Given the description of an element on the screen output the (x, y) to click on. 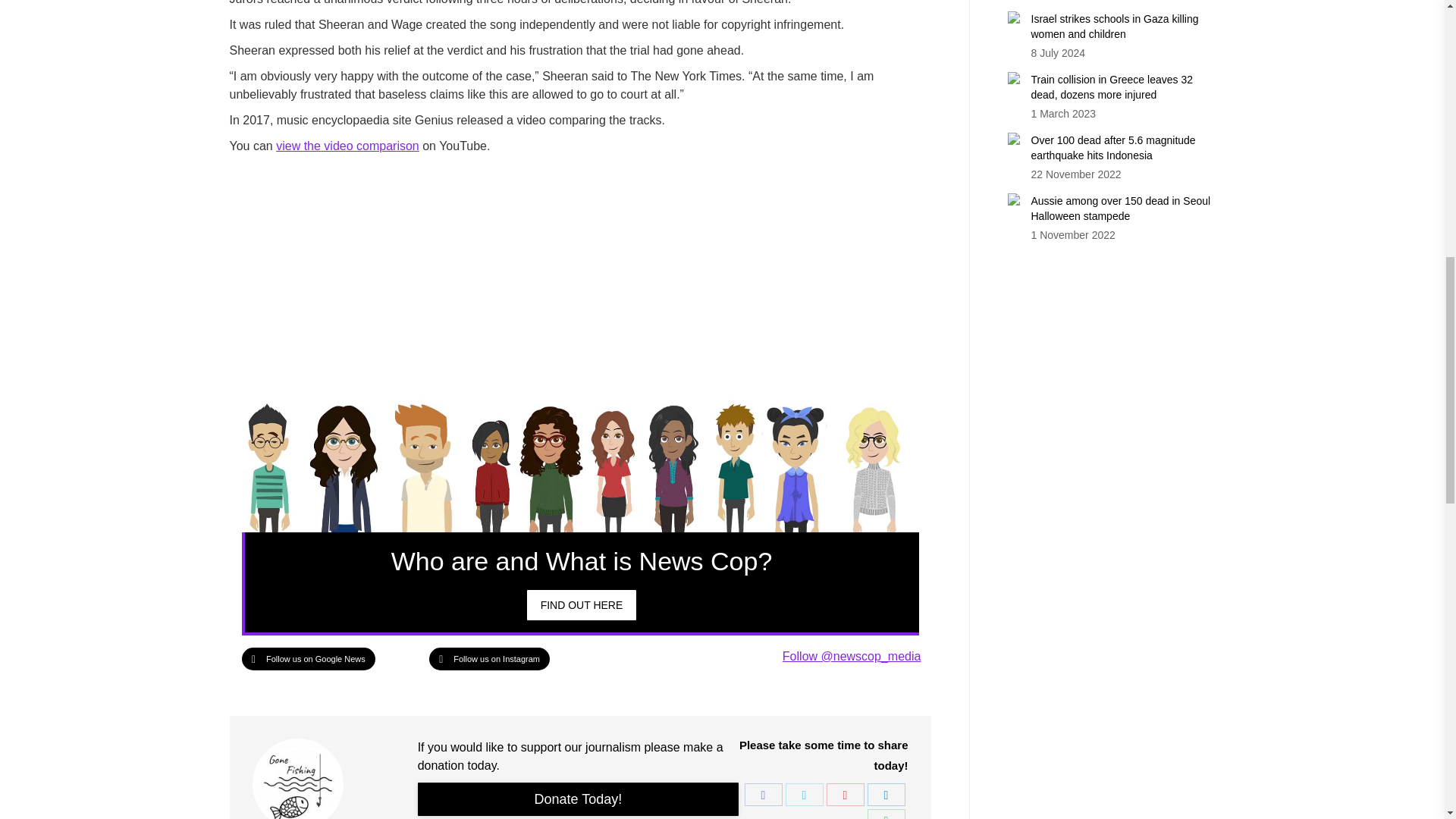
Facebook (763, 793)
Pinterest (845, 793)
Twitter (805, 793)
Protests in Solomon Islands result in lockdown (582, 604)
HD people heads (579, 464)
Complaints Form (578, 798)
